Given the description of an element on the screen output the (x, y) to click on. 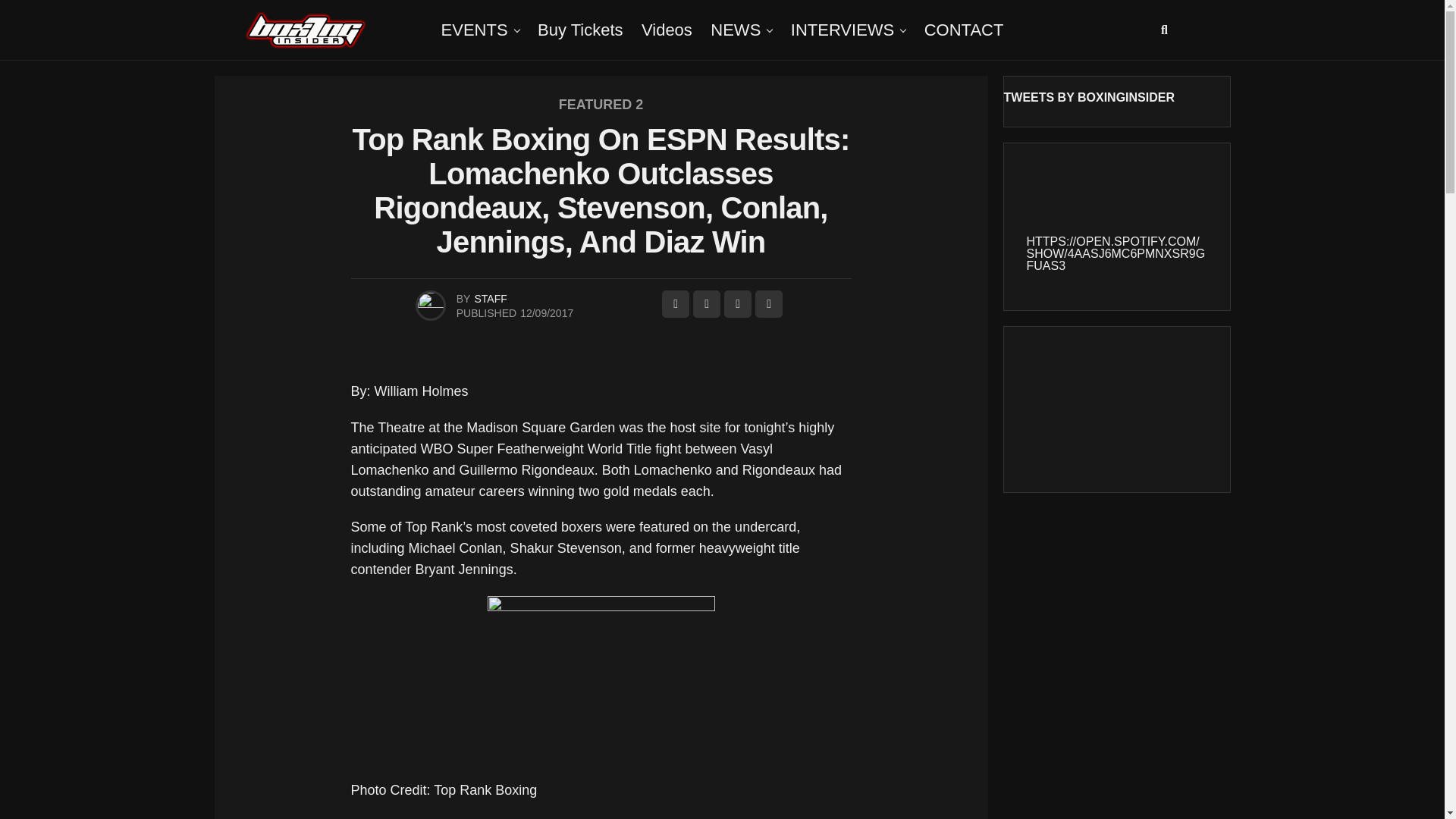
Videos (666, 30)
Buy Tickets (579, 30)
NEWS (735, 30)
CONTACT (964, 30)
EVENTS (474, 30)
INTERVIEWS (842, 30)
